Given the description of an element on the screen output the (x, y) to click on. 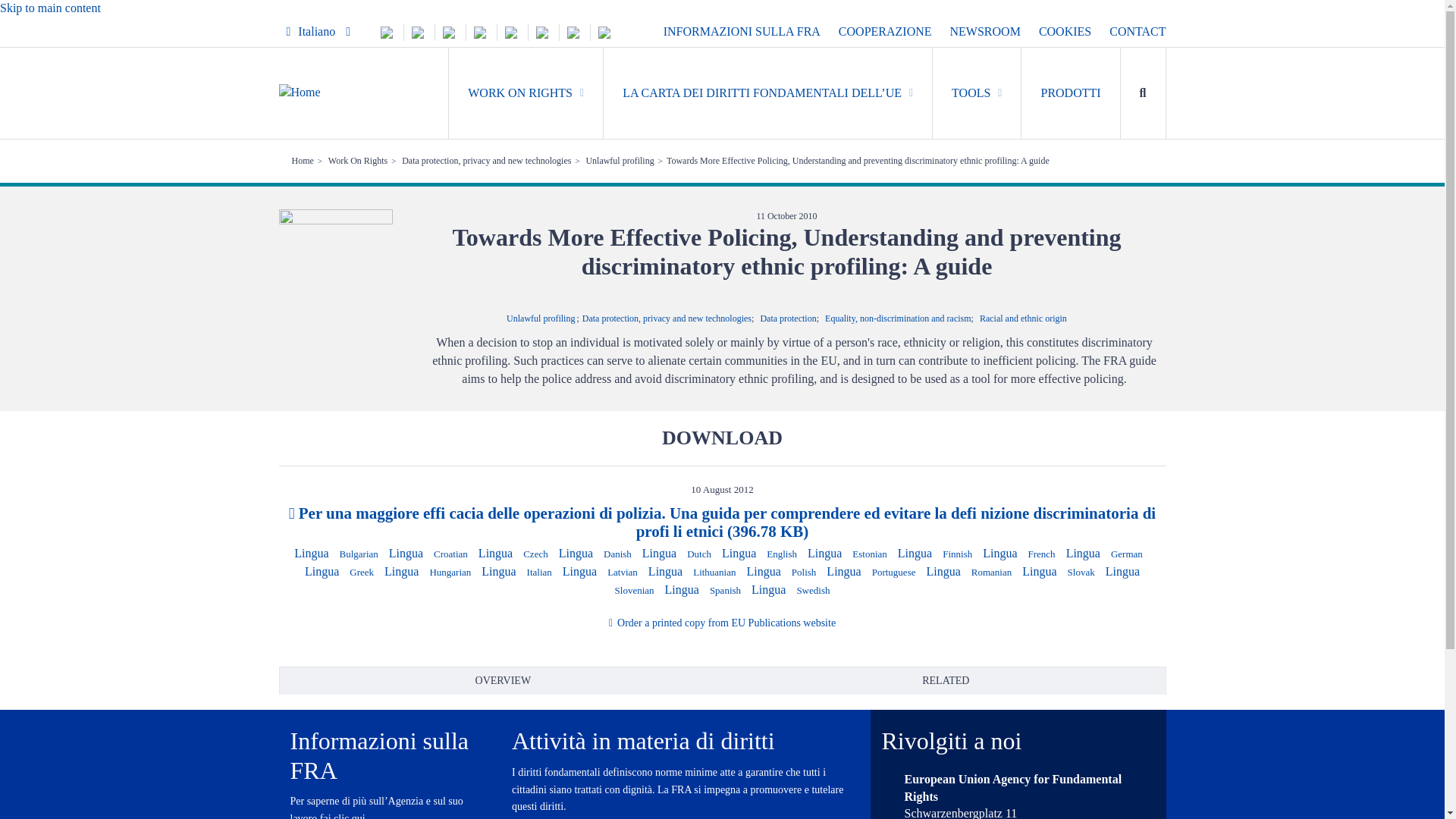
PeerTube (574, 31)
Twitter (387, 31)
Instagram (480, 31)
COOKIES (1064, 31)
YouTube (543, 31)
FRA's Instagram channel (480, 31)
Italiano (318, 31)
FRA's Mastodon channel (450, 31)
Facebook (512, 31)
FRA's LinkedIn channel (418, 31)
FRA's Twitter channel (387, 31)
FRA's PeerTube channel (574, 31)
NEWSROOM (985, 31)
Mastodon (450, 31)
FRA's YouTube channel (543, 31)
